Given the description of an element on the screen output the (x, y) to click on. 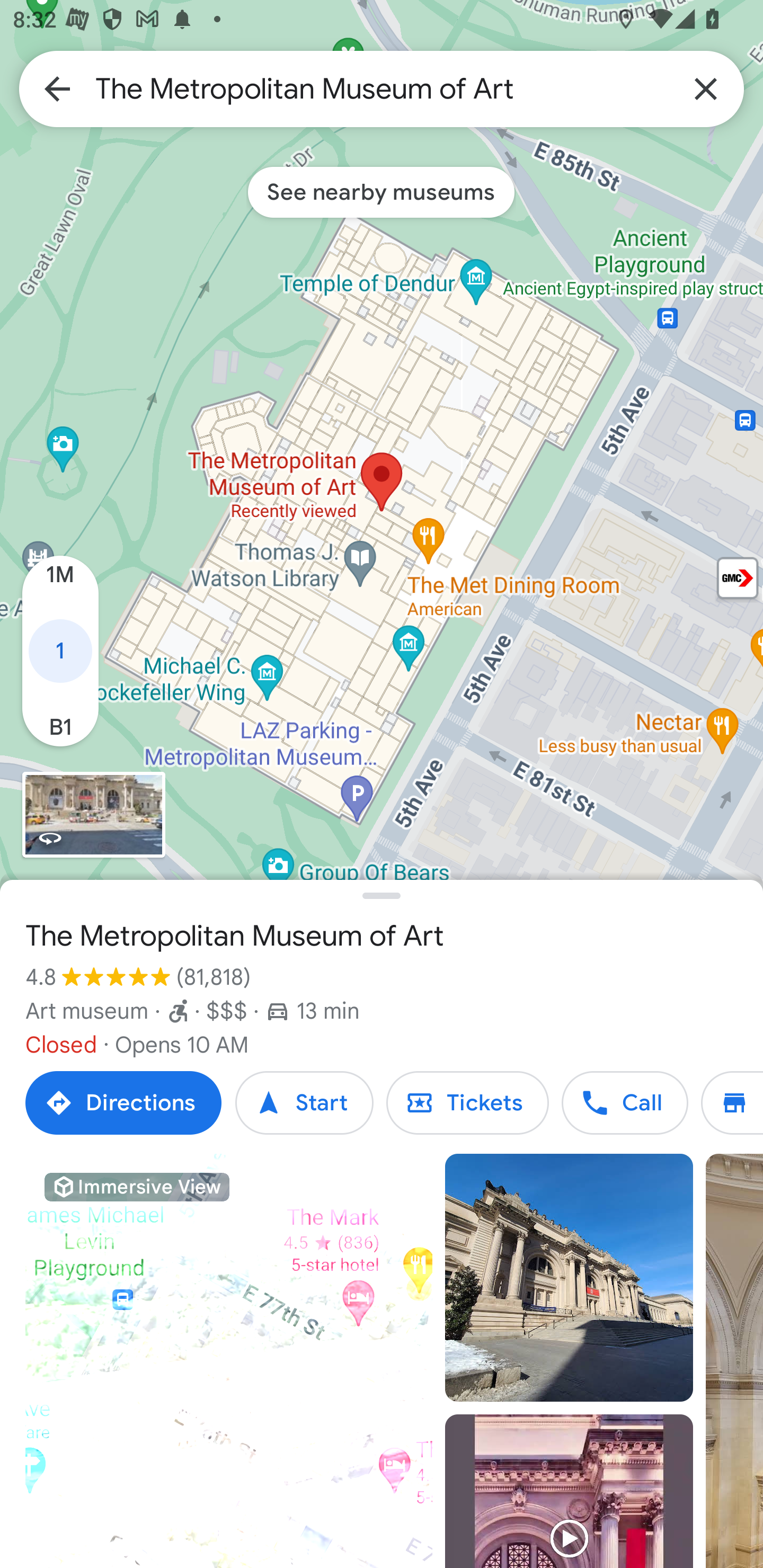
Back (57, 88)
The Metropolitan Museum of Art (381, 88)
Clear (705, 88)
See nearby museums (380, 191)
Level 1 M 1M (60, 584)
Level 1 1 (60, 651)
Level B 1 B1 (60, 717)
Start Start Start (304, 1102)
Tickets (467, 1102)
Directory Directory Directory (732, 1102)
Video Immersive View (228, 1361)
Photo (568, 1277)
Video (568, 1491)
